Given the description of an element on the screen output the (x, y) to click on. 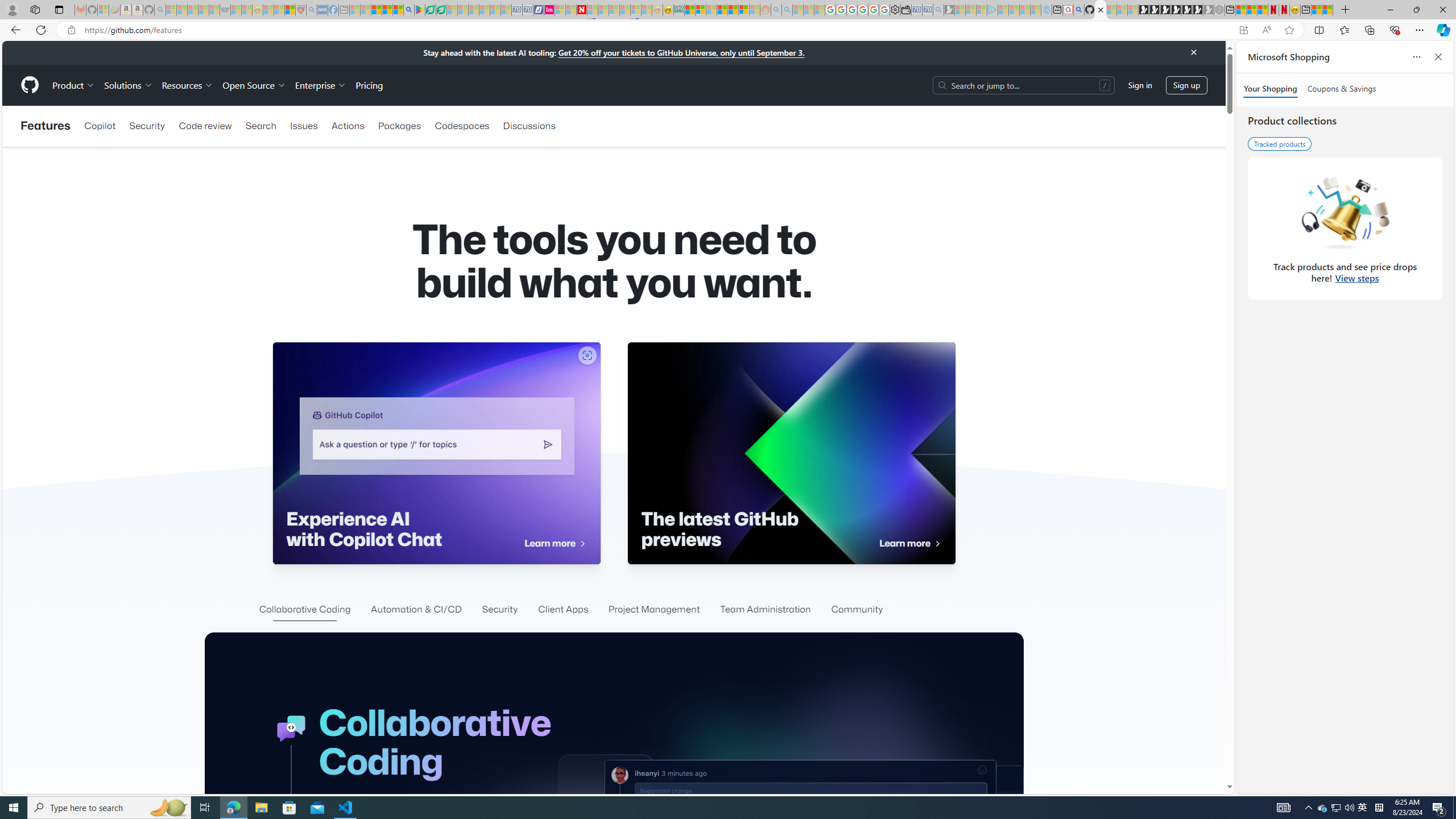
Product (74, 84)
Solutions (128, 84)
Bluey: Let's Play! - Apps on Google Play (419, 9)
